Given the description of an element on the screen output the (x, y) to click on. 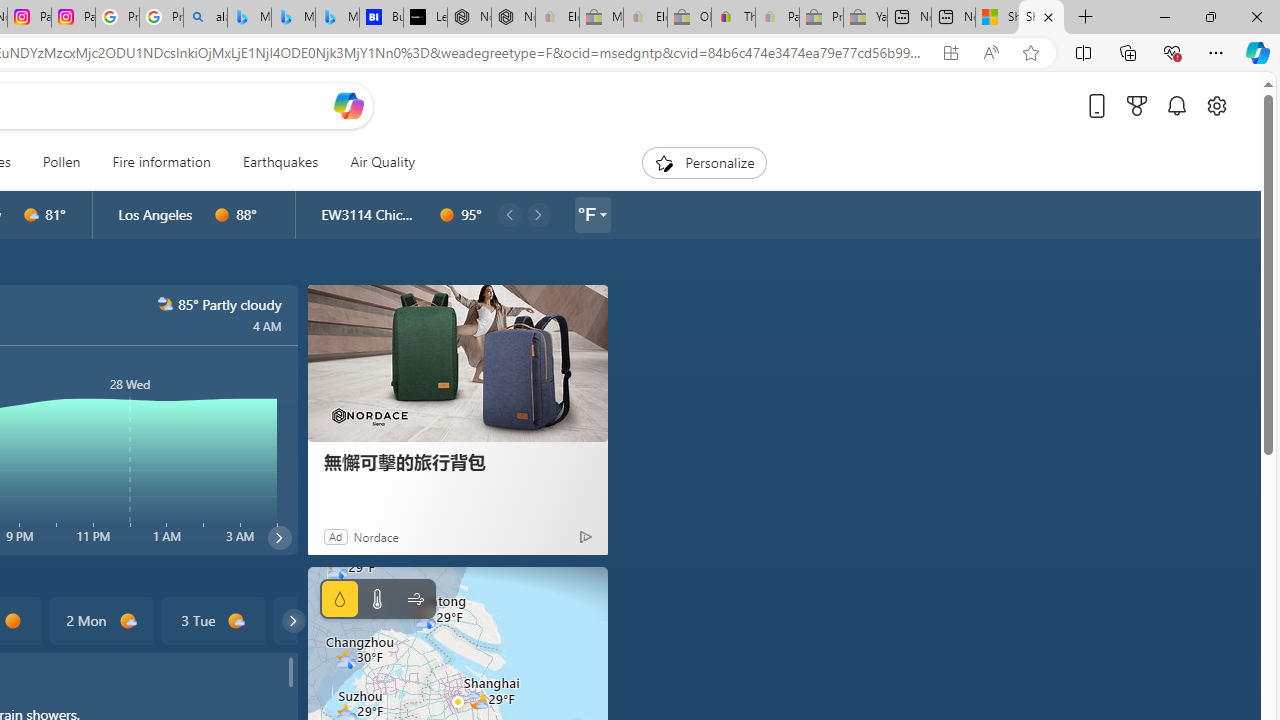
Precipitation (339, 599)
2 Mon d1000 (100, 620)
Pollen (61, 162)
common/carouselChevron (293, 620)
d0000 (11, 621)
Shanghai, China hourly forecast | Microsoft Weather (1041, 17)
Payments Terms of Use | eBay.com - Sleeping (777, 17)
3 Tue d1000 (213, 620)
